Given the description of an element on the screen output the (x, y) to click on. 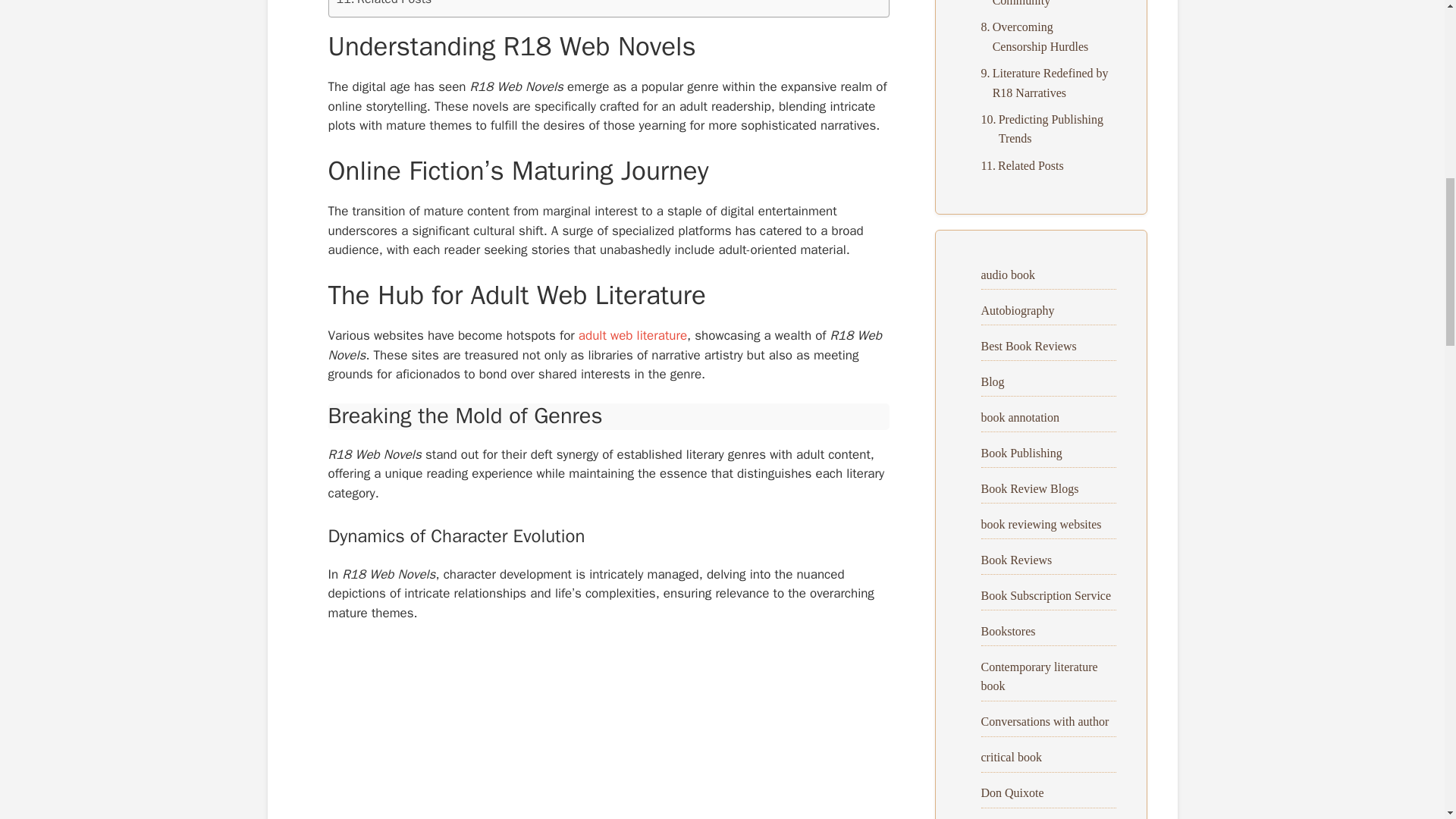
Related Posts (384, 4)
adult web literature (632, 335)
Related Posts (384, 4)
